Given the description of an element on the screen output the (x, y) to click on. 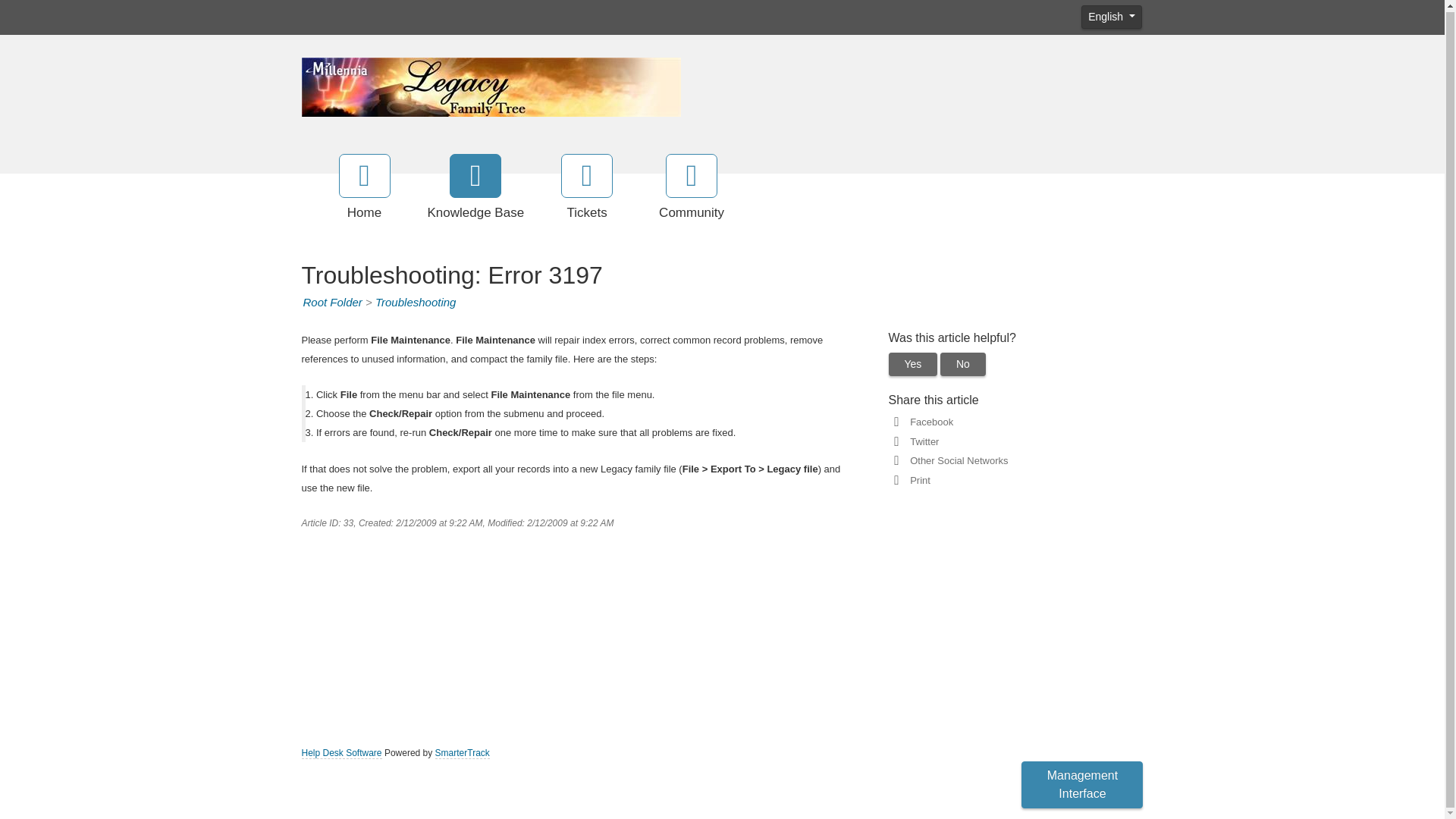
Troubleshooting (415, 301)
Knowledge Base (476, 187)
English (1111, 16)
Home (364, 187)
No (962, 363)
Root Folder (332, 301)
Twitter (921, 441)
Legacy Family Tree (491, 85)
Other Social Networks (955, 460)
Community (691, 187)
Facebook (928, 421)
Tickets (586, 187)
Yes (912, 363)
